Given the description of an element on the screen output the (x, y) to click on. 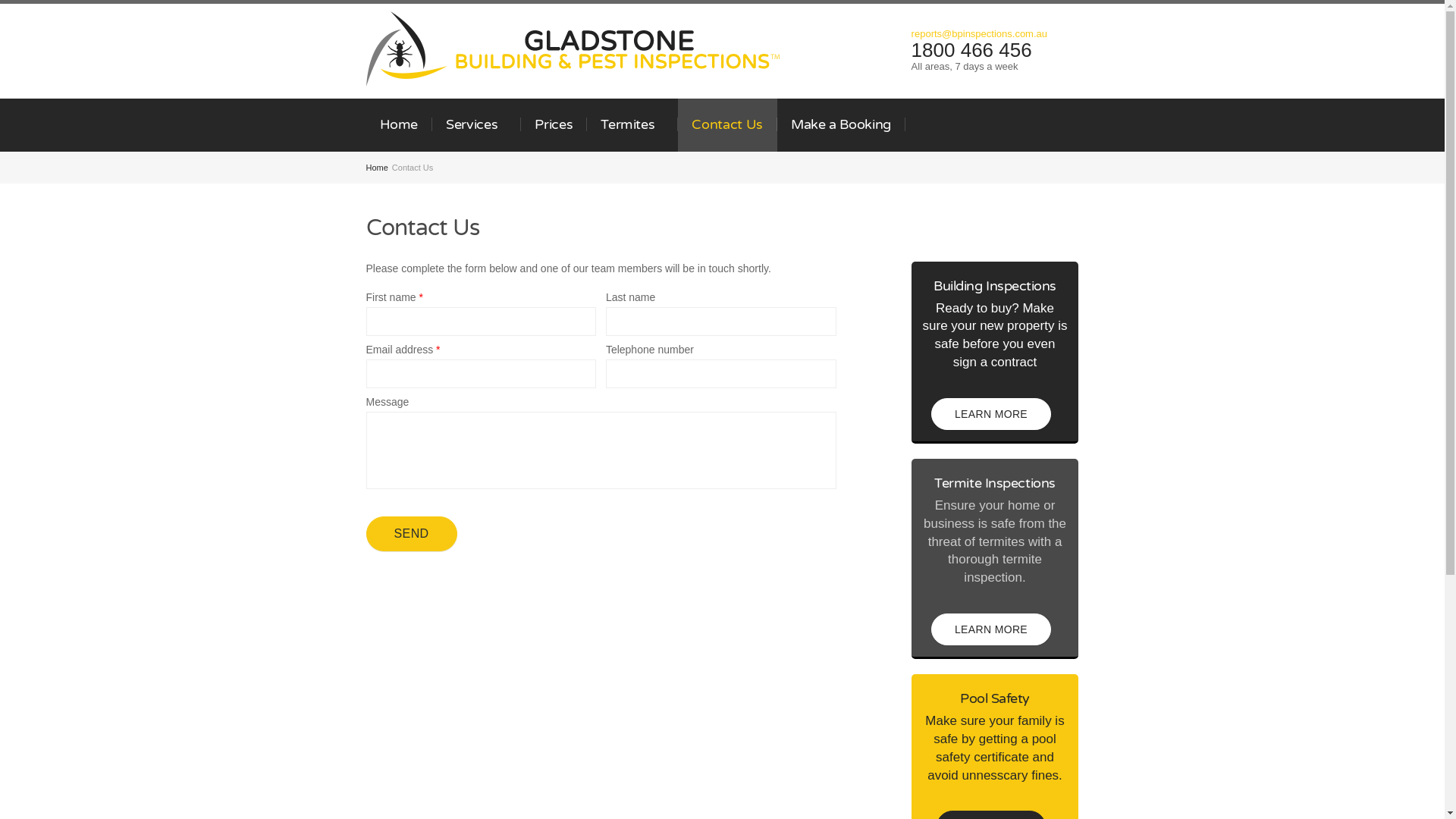
Home Element type: text (398, 124)
Make a Booking Element type: text (841, 124)
LEARN MORE Element type: text (991, 413)
Pool Safety Element type: text (994, 700)
Contact Us Element type: text (727, 124)
Termite Inspections Element type: text (994, 484)
Termites Element type: text (631, 124)
LEARN MORE Element type: text (991, 629)
Services Element type: text (476, 124)
Prices Element type: text (553, 124)
reports@bpinspections.com.au Element type: text (979, 33)
Building Inspections Element type: text (994, 287)
Home Element type: text (376, 167)
SEND Element type: text (410, 533)
1800 466 456 Element type: text (971, 49)
